Given the description of an element on the screen output the (x, y) to click on. 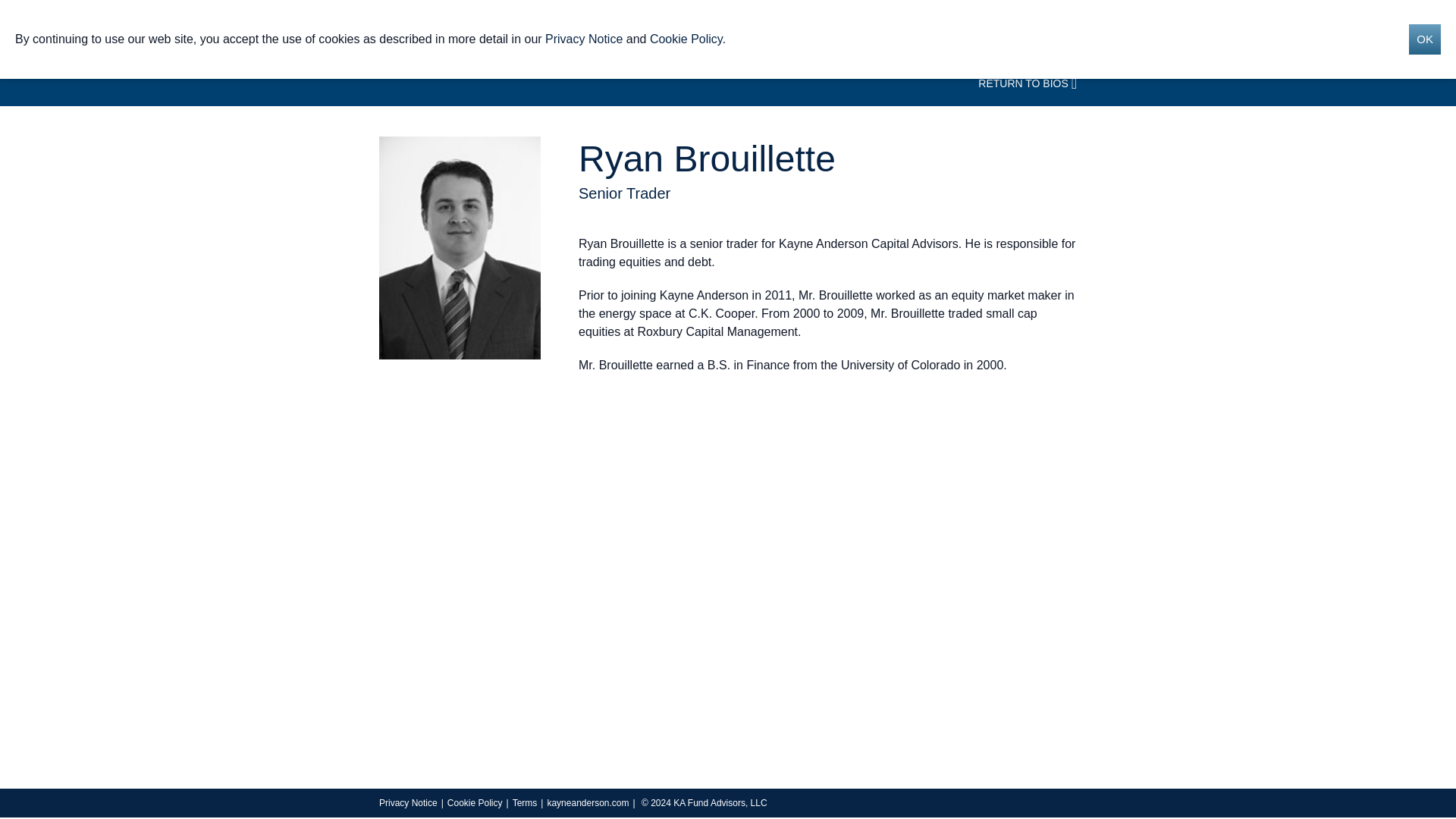
INSIGHTS (947, 36)
Cookie Policy (474, 802)
ABOUT (657, 36)
CONTACT (1005, 36)
OK (1425, 39)
Terms (524, 802)
kayneanderson.com (587, 802)
TEAM (701, 36)
Privacy Notice (583, 38)
